Given the description of an element on the screen output the (x, y) to click on. 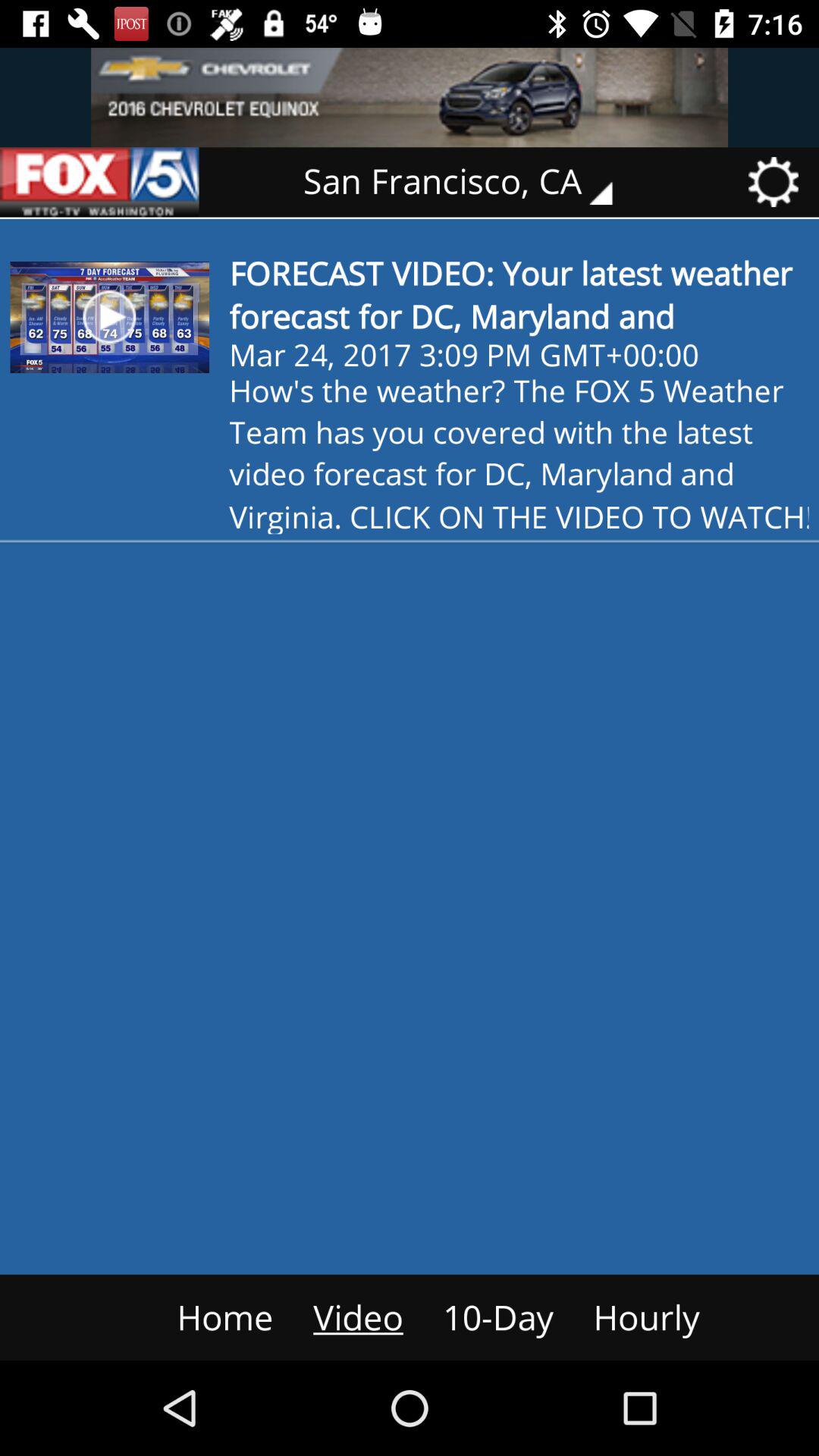
advertisement (99, 182)
